Given the description of an element on the screen output the (x, y) to click on. 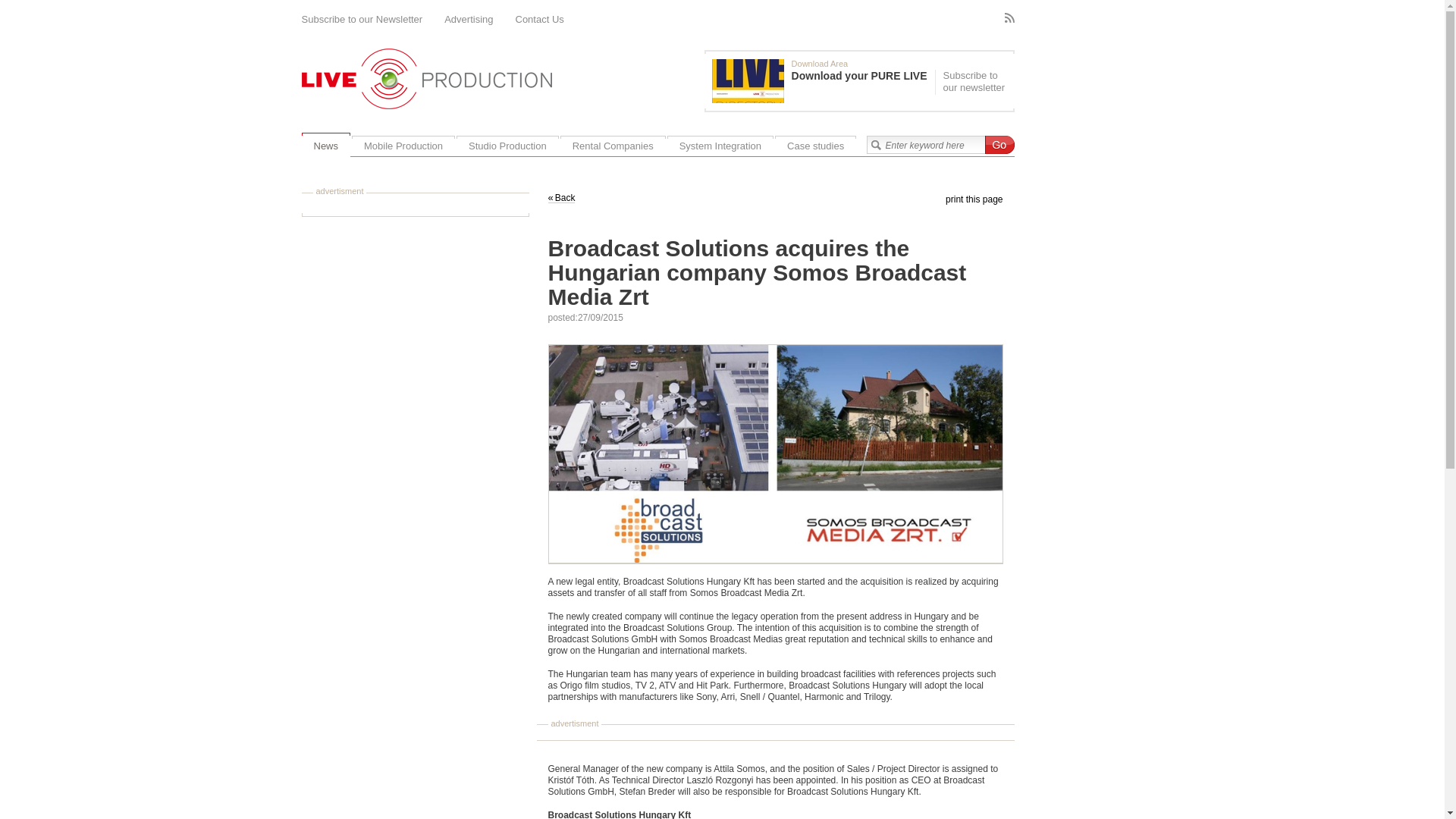
Contact Us (539, 19)
Subscribe to our Newsletter (362, 19)
Publication (822, 80)
Go (998, 144)
Advertising (468, 19)
Subscribe to our newsletter (972, 82)
PURE LIVE 2018 (747, 80)
RSS (1008, 17)
